Given the description of an element on the screen output the (x, y) to click on. 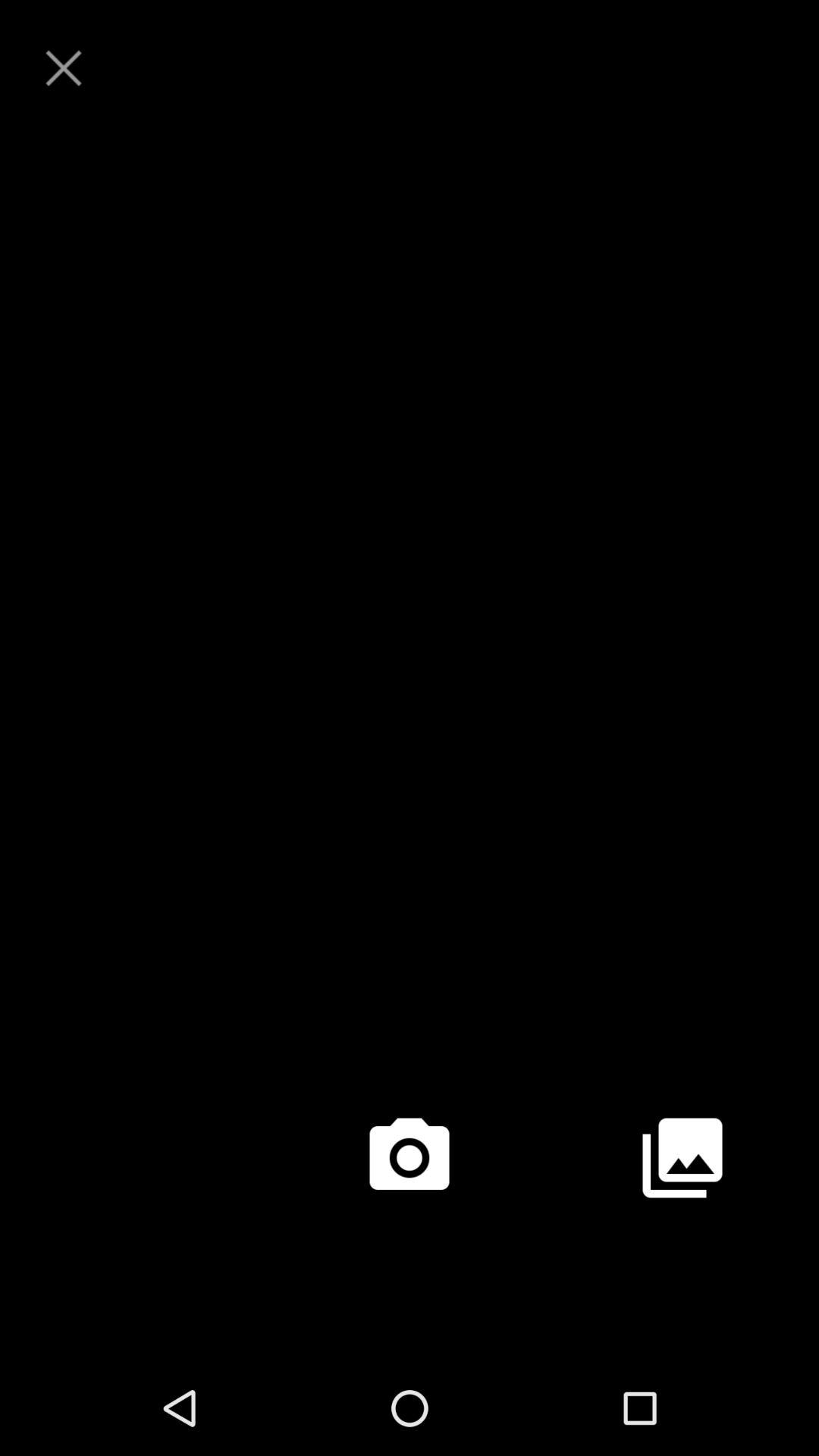
camera (409, 1157)
